Given the description of an element on the screen output the (x, y) to click on. 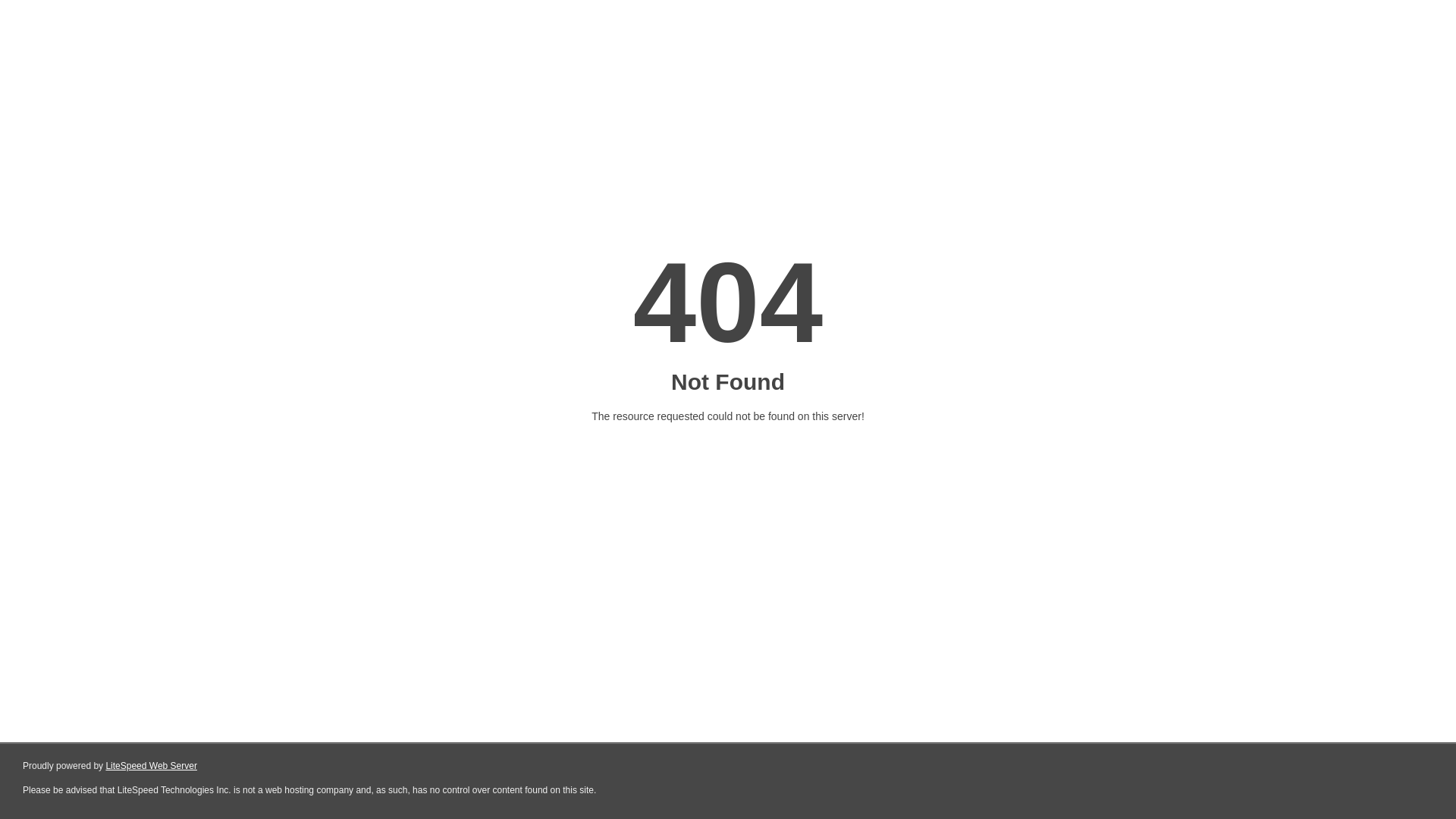
LiteSpeed Web Server (150, 765)
